Given the description of an element on the screen output the (x, y) to click on. 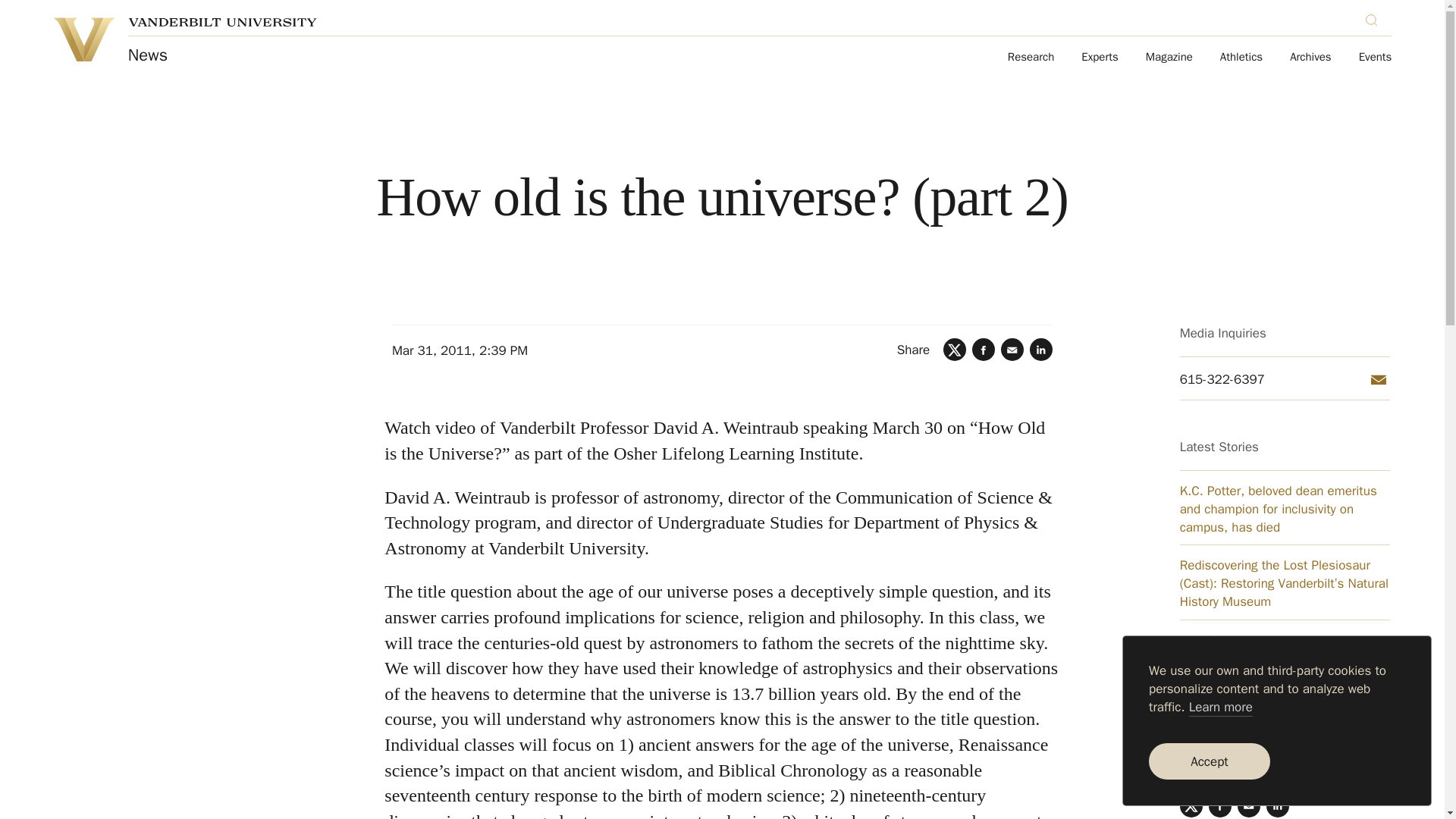
Athletics (1241, 57)
Accept (1208, 760)
Magazine (1168, 57)
Experts (1099, 57)
Email (1378, 379)
Facebook (1219, 805)
LinkedIn (1277, 805)
Vanderbilt University (222, 21)
News (147, 55)
Twitter (1190, 805)
